Given the description of an element on the screen output the (x, y) to click on. 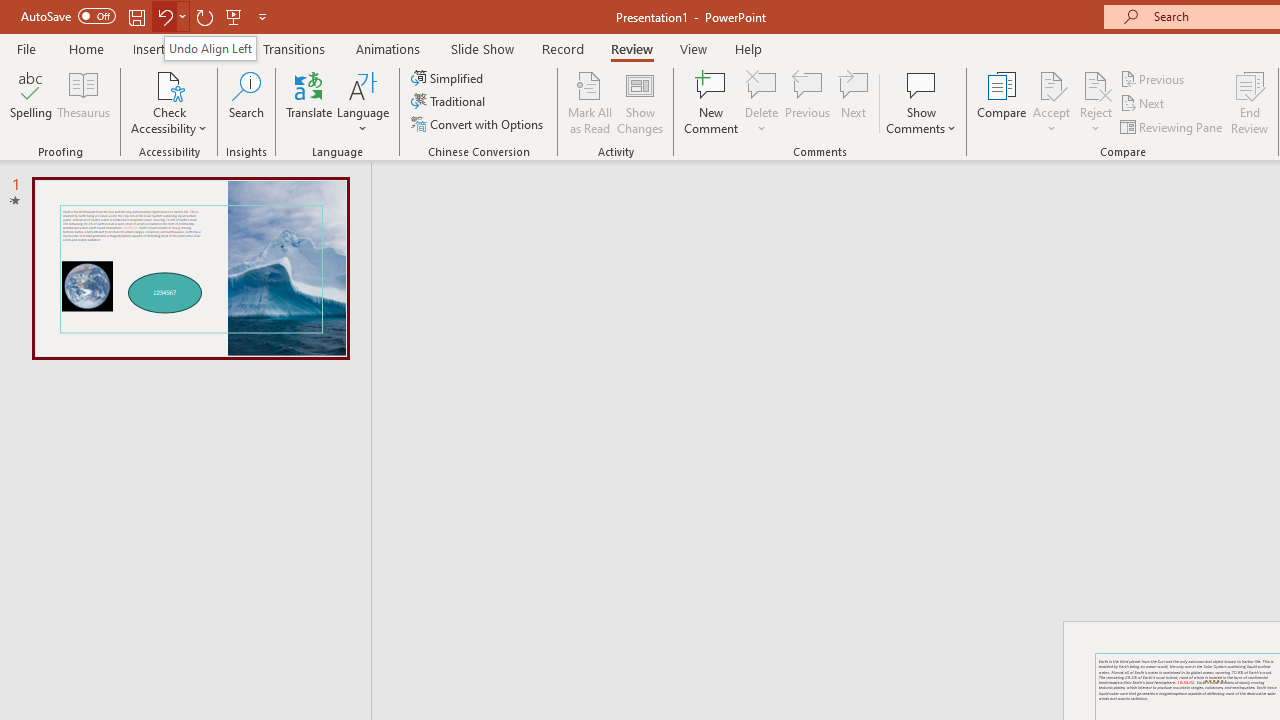
Delete (762, 84)
Language (363, 102)
Accept (1051, 102)
